Given the description of an element on the screen output the (x, y) to click on. 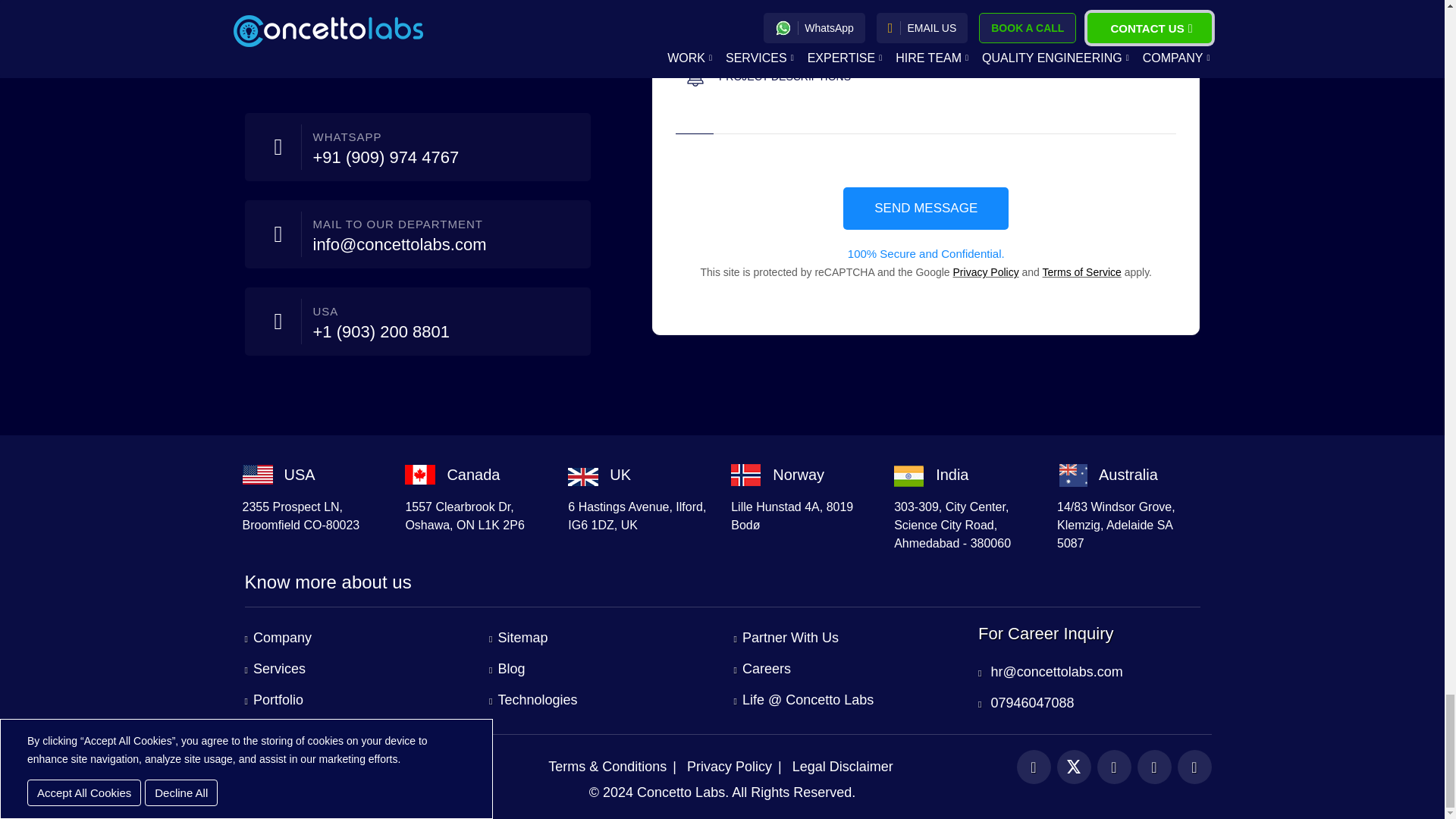
Facebook (1032, 766)
07946047088 (1026, 702)
DMCA.com Protection Status (276, 770)
